Given the description of an element on the screen output the (x, y) to click on. 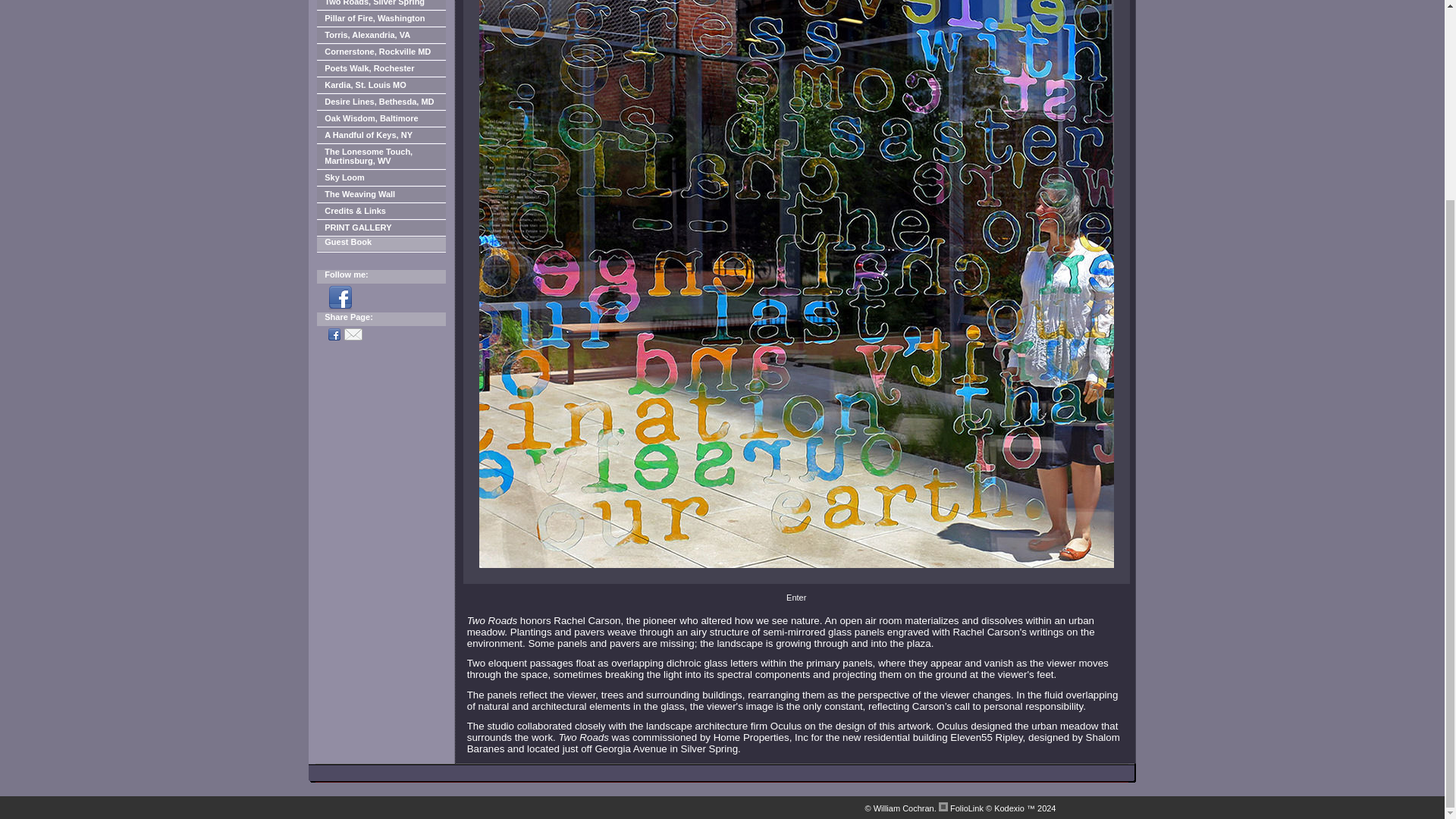
A Handful of Keys, NY (381, 134)
Follow me: (381, 276)
Pillar of Fire, Washington (381, 18)
Facebook (336, 334)
The Weaving Wall (381, 194)
Email (354, 334)
Facebook (342, 297)
Oak Wisdom, Baltimore (381, 118)
Kardia, St. Louis MO (381, 84)
Enter (796, 596)
Share Page: (381, 318)
Two Roads, Silver Spring (381, 4)
Sky Loom (381, 177)
Poets Walk, Rochester (381, 68)
Guest Book (381, 243)
